Given the description of an element on the screen output the (x, y) to click on. 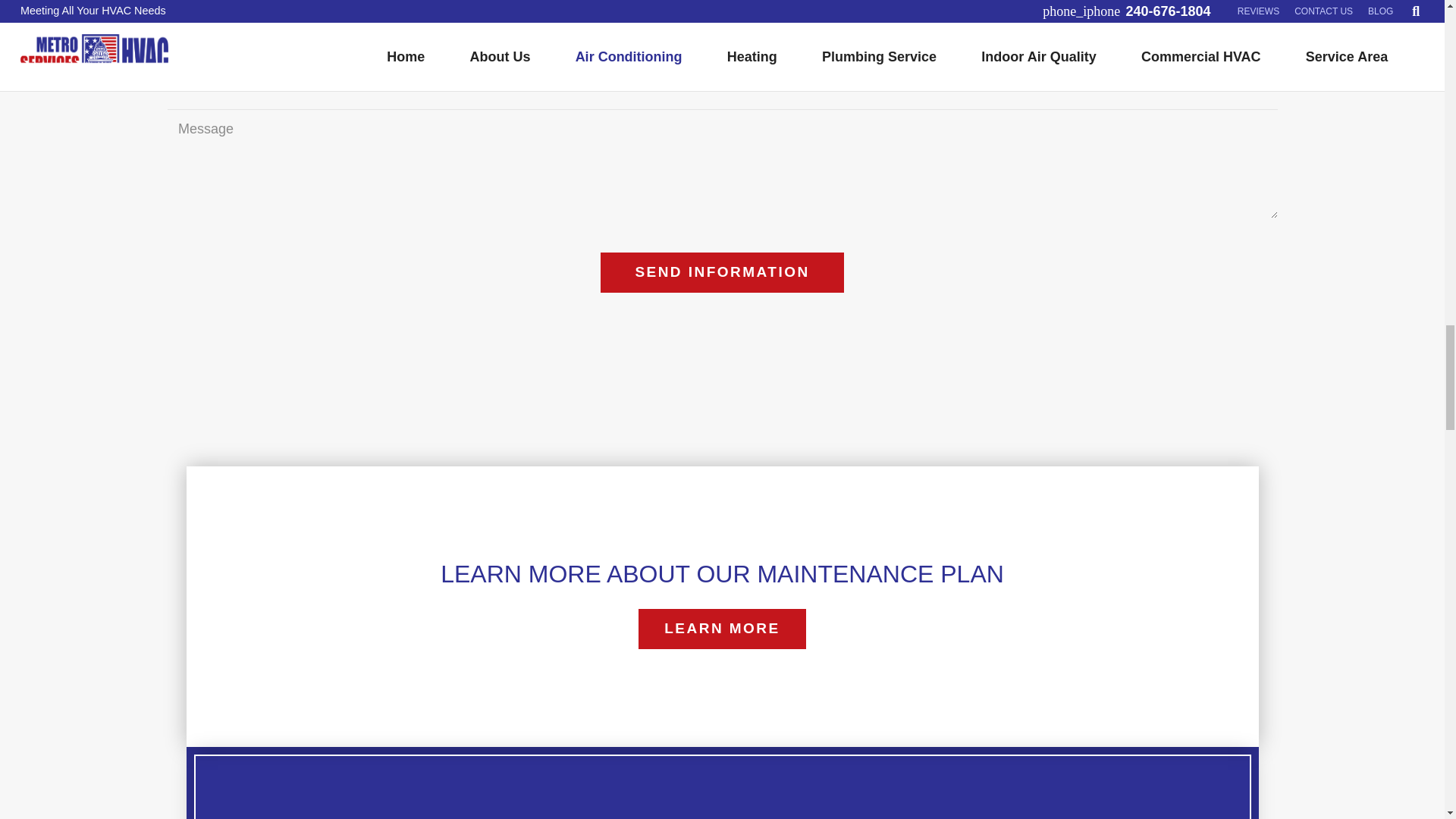
Maintenance Plans (722, 629)
Send Information (721, 272)
